Given the description of an element on the screen output the (x, y) to click on. 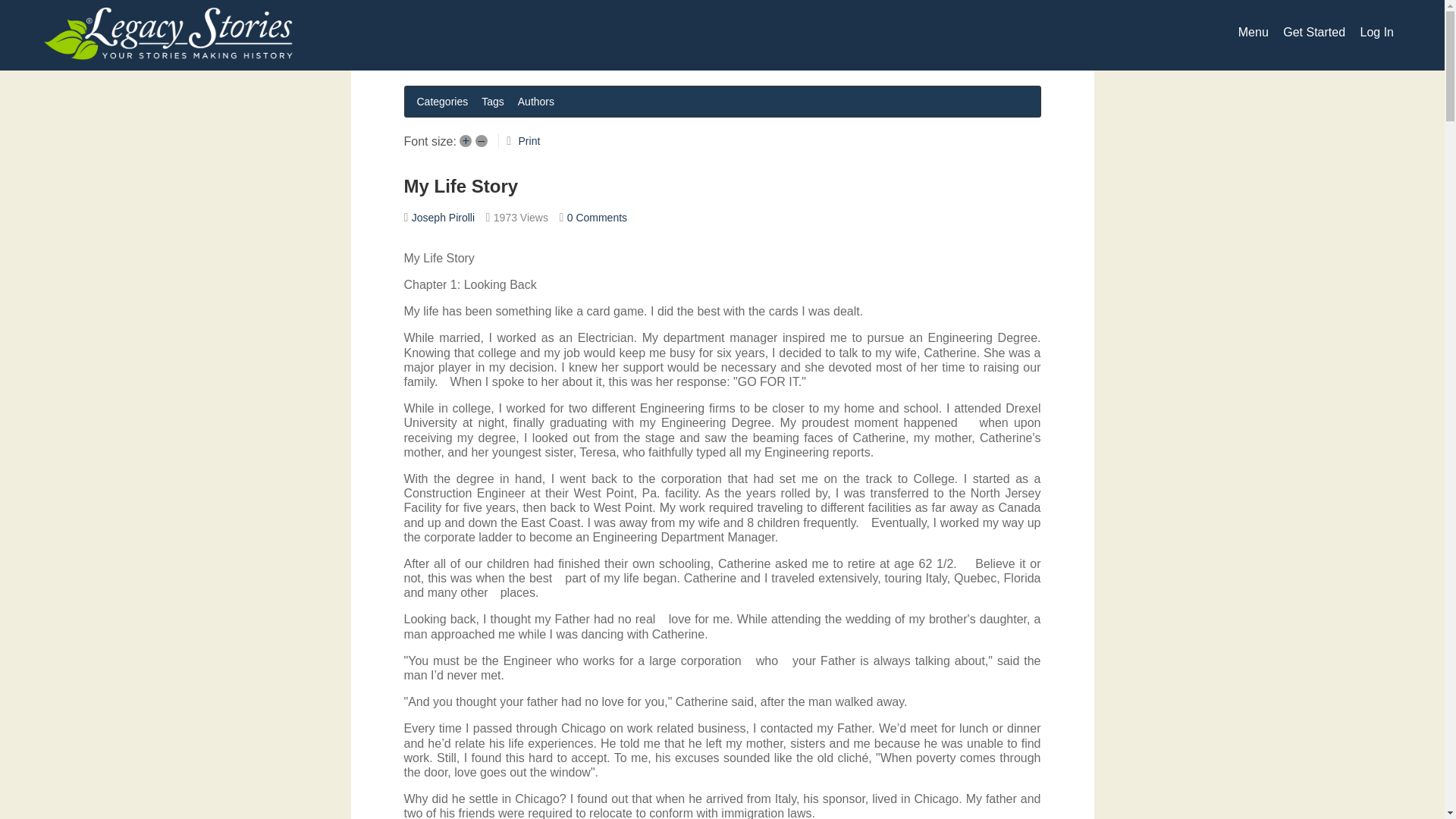
Categories (442, 101)
Log In (1376, 31)
Print (529, 141)
Menu (1253, 31)
Print (529, 141)
Tags (493, 101)
Joseph Pirolli (443, 217)
Get Started (1313, 31)
Authors (536, 101)
